Given the description of an element on the screen output the (x, y) to click on. 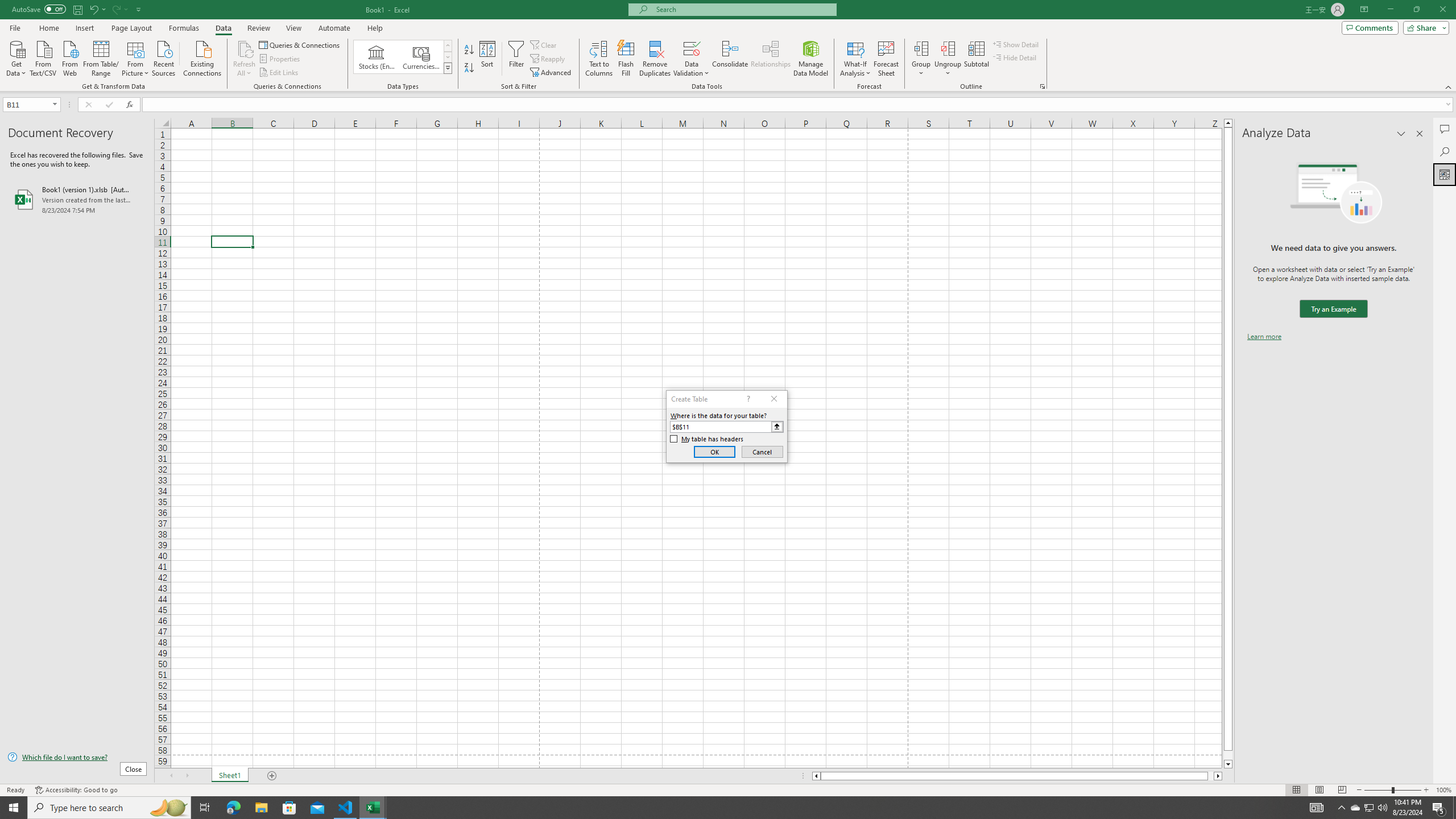
Consolidate... (729, 58)
